Given the description of an element on the screen output the (x, y) to click on. 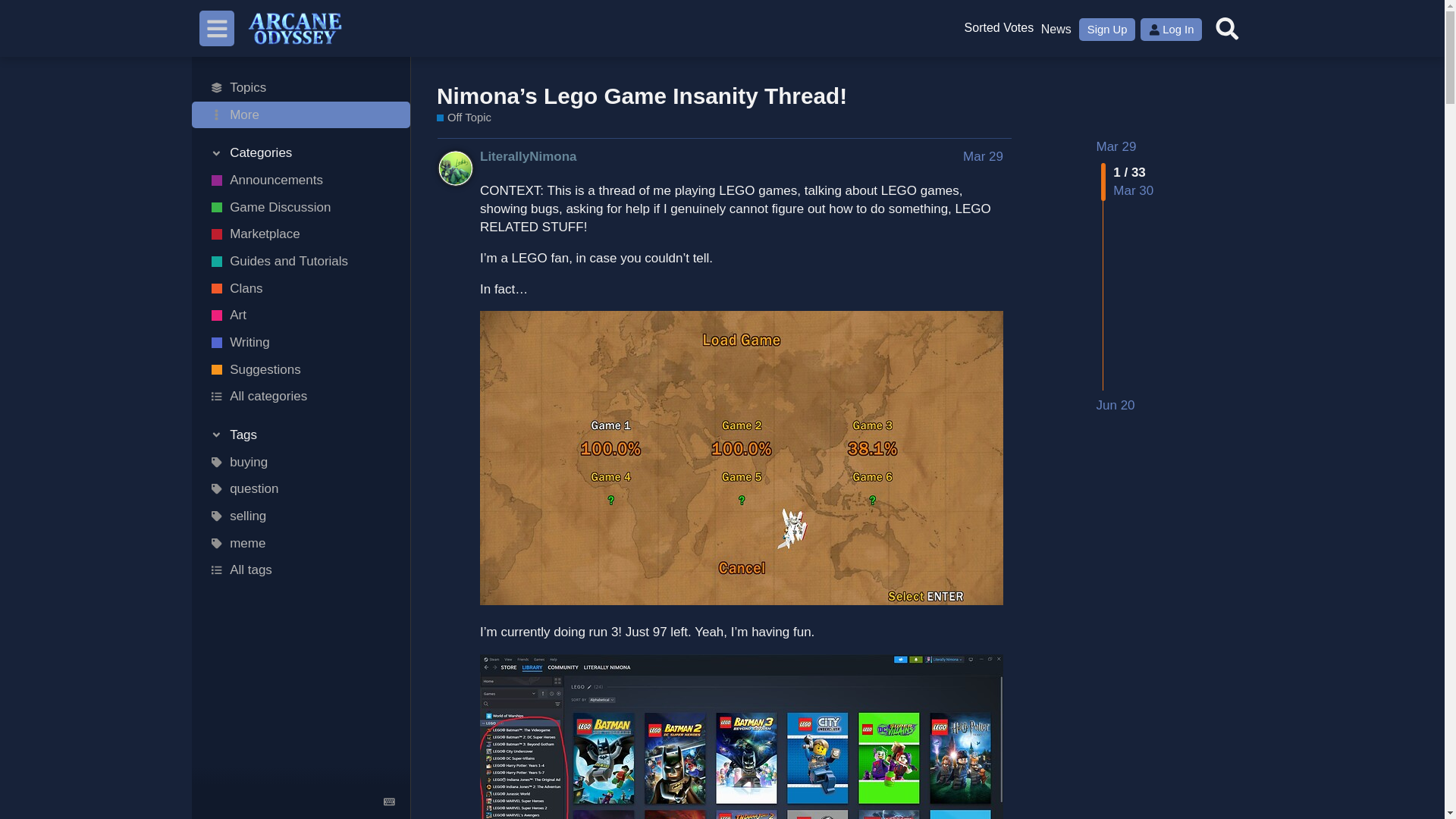
Categories (301, 153)
Mar 29 (1116, 146)
Hide sidebar (216, 27)
Sorted Votes (998, 28)
All tags (301, 569)
News (1056, 29)
Tags (301, 434)
Log In (1171, 29)
All categories (301, 396)
Suggestions (998, 28)
